Given the description of an element on the screen output the (x, y) to click on. 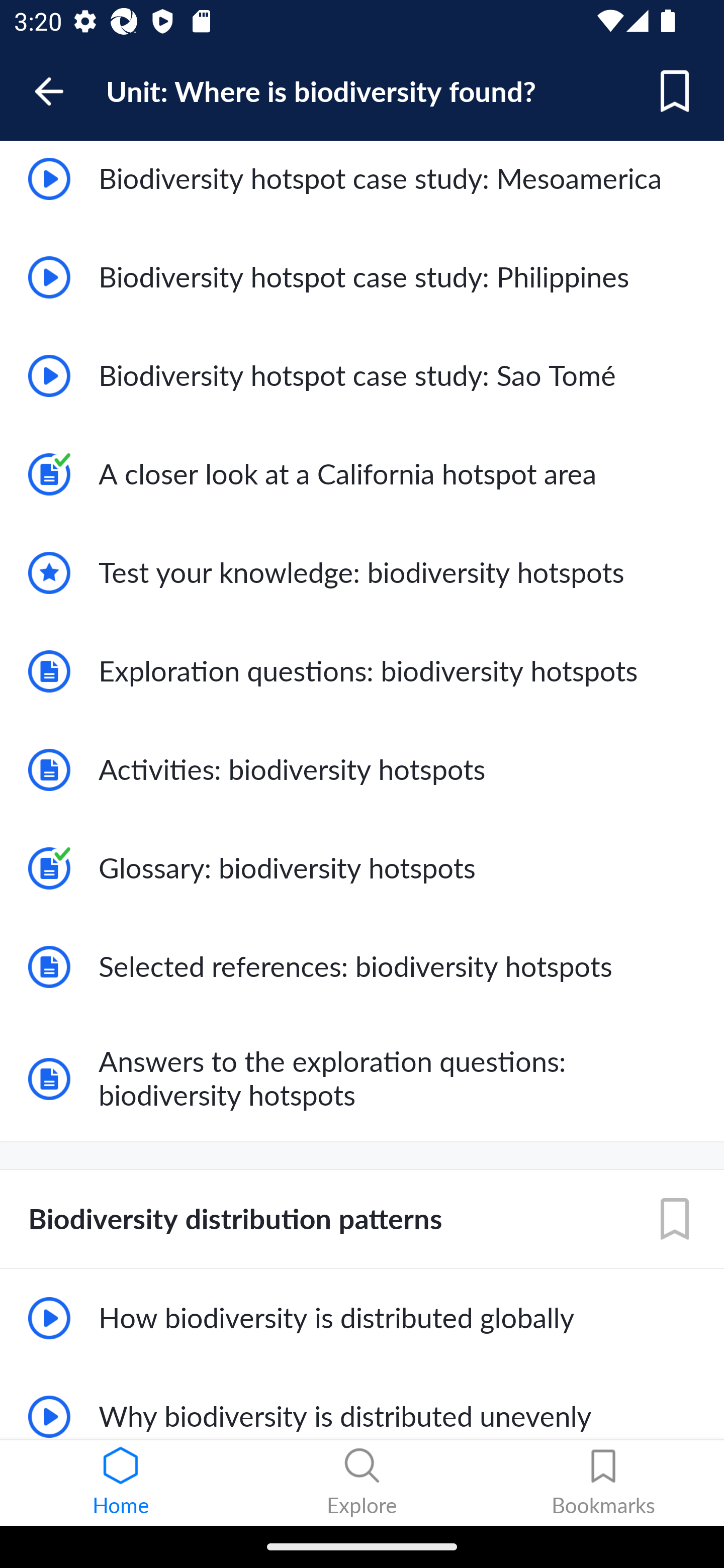
Biodiversity hotspot case study: Madagascar (362, 86)
Back (58, 91)
Add Bookmark (674, 91)
Biodiversity hotspot case study: Mesoamerica (362, 179)
Biodiversity hotspot case study: Philippines (362, 277)
Biodiversity hotspot case study: Sao Tomé (362, 375)
A closer look at a California hotspot area (362, 473)
Test your knowledge: biodiversity hotspots (362, 572)
Exploration questions: biodiversity hotspots (362, 671)
Activities: biodiversity hotspots (362, 769)
Glossary: biodiversity hotspots (362, 867)
Selected references: biodiversity hotspots (362, 966)
Add Bookmark (674, 1218)
How biodiversity is distributed globally (362, 1317)
Why biodiversity is distributed unevenly (362, 1403)
Home (120, 1482)
Explore (361, 1482)
Bookmarks (603, 1482)
